Given the description of an element on the screen output the (x, y) to click on. 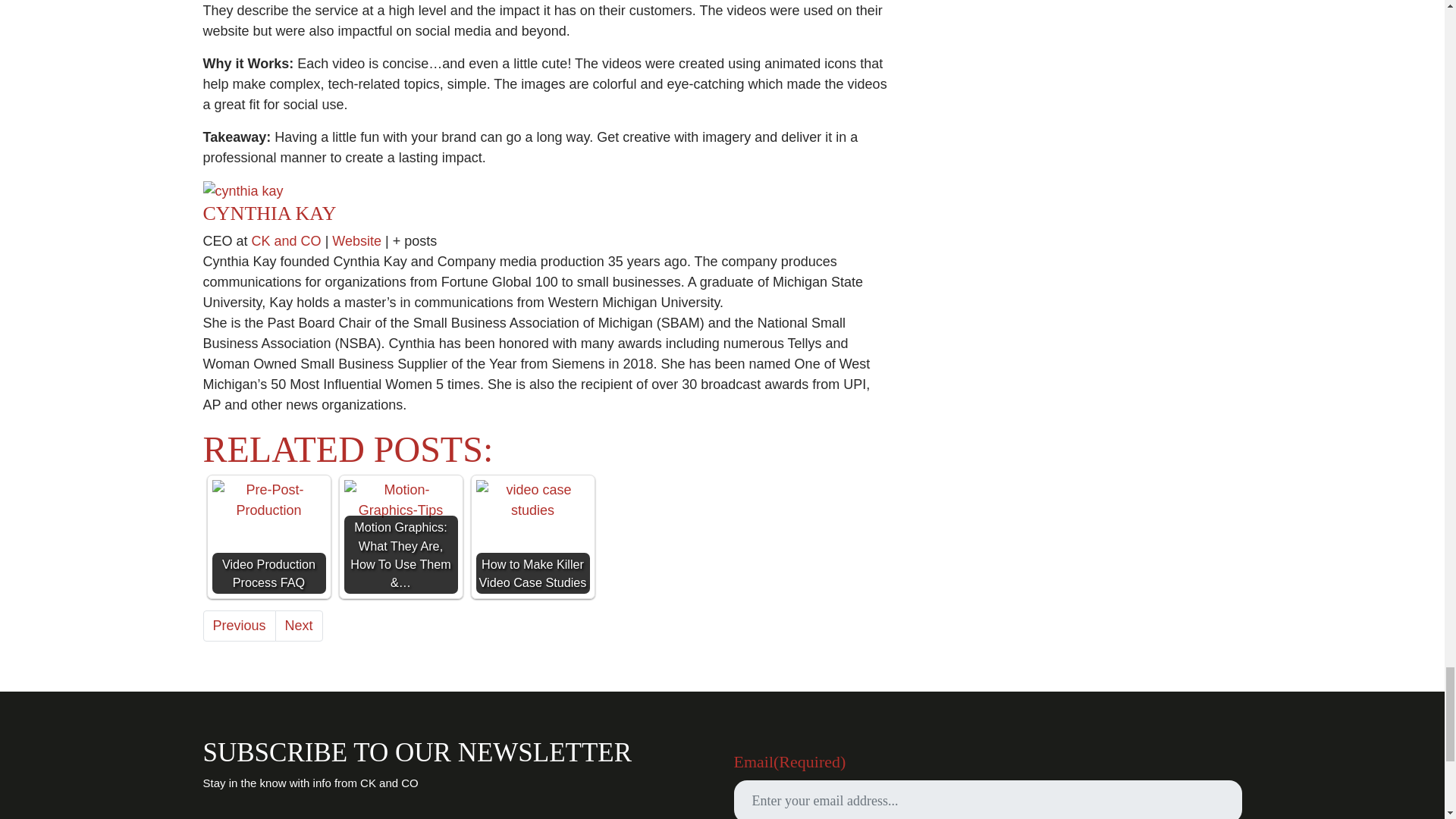
Video Production Process FAQ (269, 499)
CK and CO (286, 240)
How to Make Killer Video Case Studies (532, 499)
CYNTHIA KAY (269, 213)
Website (356, 240)
